Given the description of an element on the screen output the (x, y) to click on. 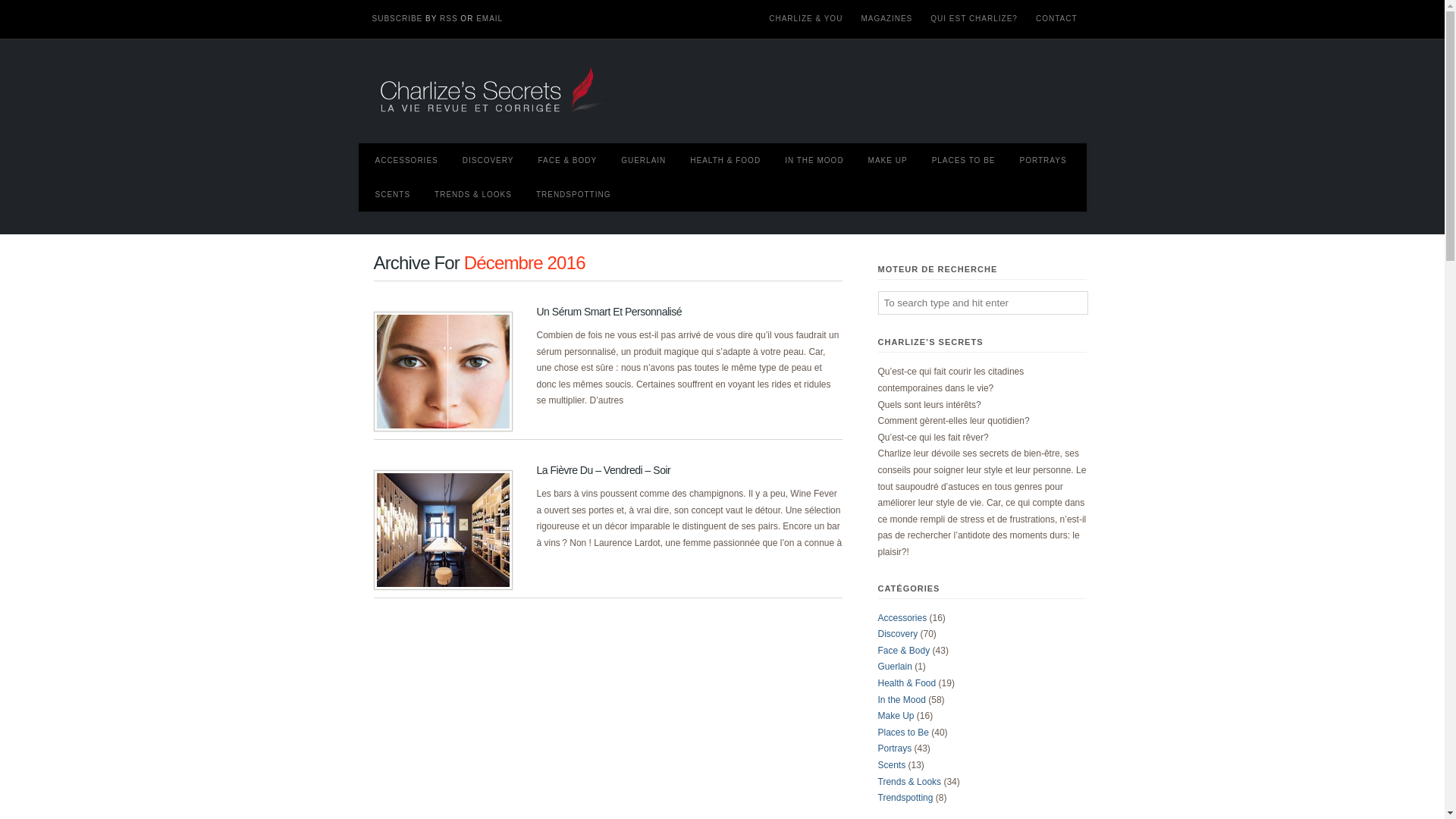
MAGAZINES Element type: text (886, 18)
HEALTH & FOOD Element type: text (727, 160)
Capture Element type: hover (442, 371)
In the Mood Element type: text (901, 699)
Trendspotting Element type: text (905, 797)
Health & Food Element type: text (907, 682)
SCENTS Element type: text (395, 194)
Face & Body Element type: text (904, 650)
Portrays Element type: text (895, 748)
TRENDS & LOOKS Element type: text (476, 194)
GUERLAIN Element type: text (645, 160)
CHARLIZE & YOU Element type: text (805, 18)
MAKE UP Element type: text (890, 160)
Discovery Element type: text (898, 633)
DISCOVERY Element type: text (491, 160)
Winefever Element type: hover (442, 529)
IN THE MOOD Element type: text (816, 160)
ACCESSORIES Element type: text (408, 160)
RSS Element type: text (448, 18)
CONTACT Element type: text (1056, 18)
FACE & BODY Element type: text (569, 160)
EMAIL Element type: text (489, 18)
QUI EST CHARLIZE? Element type: text (973, 18)
Scents Element type: text (892, 764)
Trends & Looks Element type: text (909, 781)
Make Up Element type: text (896, 715)
Places to Be Element type: text (903, 732)
PORTRAYS Element type: text (1046, 160)
Guerlain Element type: text (895, 666)
TRENDSPOTTING Element type: text (576, 194)
PLACES TO BE Element type: text (966, 160)
Accessories Element type: text (902, 617)
